Given the description of an element on the screen output the (x, y) to click on. 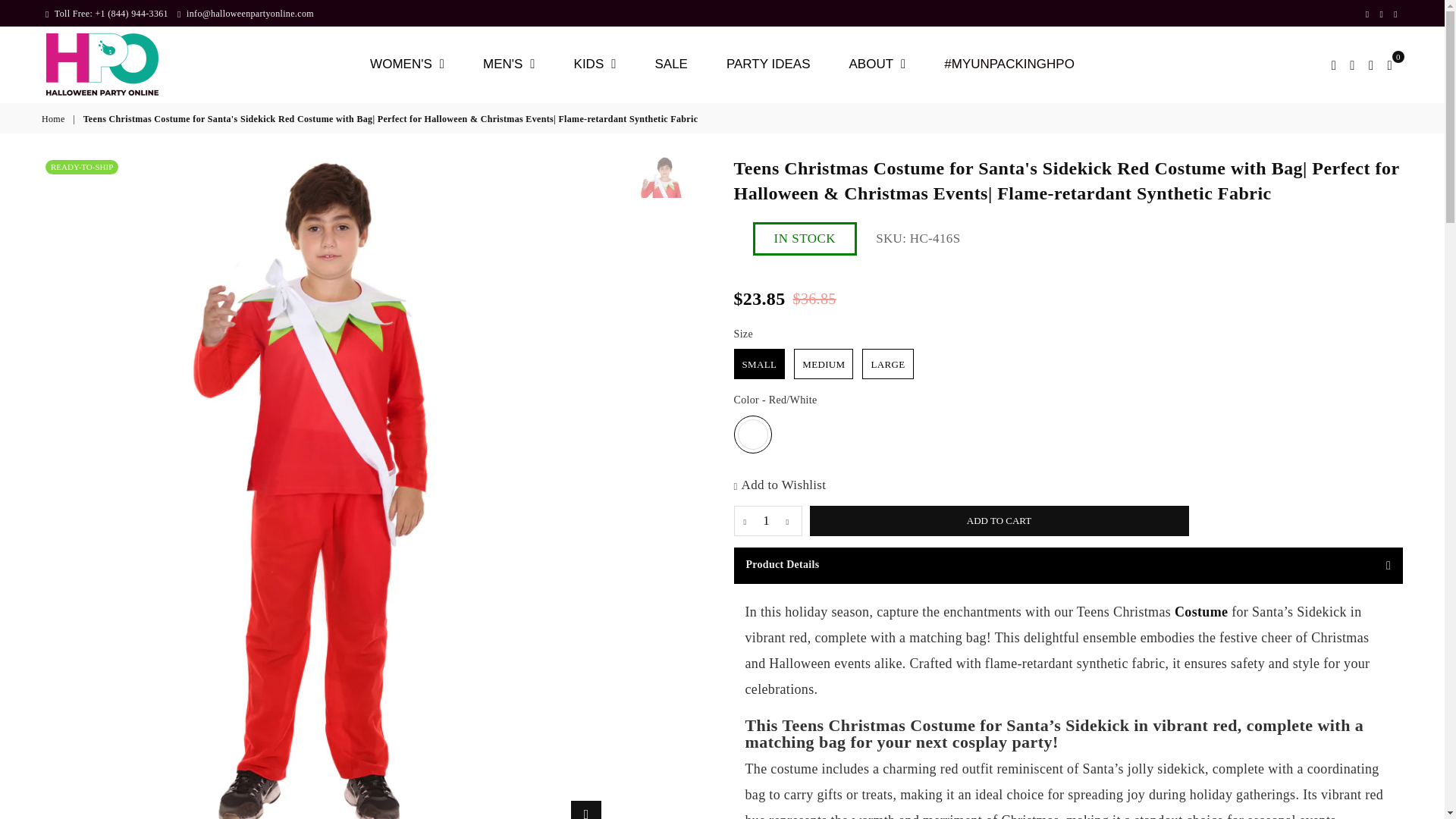
HalloweenPartyOnline on Facebook (1366, 13)
WOMEN'S (407, 64)
Instagram (1396, 13)
HalloweenPartyOnline on Pinterest (1381, 13)
Pinterest (1381, 13)
HalloweenPartyOnline (113, 64)
Women's (407, 64)
HalloweenPartyOnline on Instagram (1396, 13)
Facebook (1366, 13)
